Given the description of an element on the screen output the (x, y) to click on. 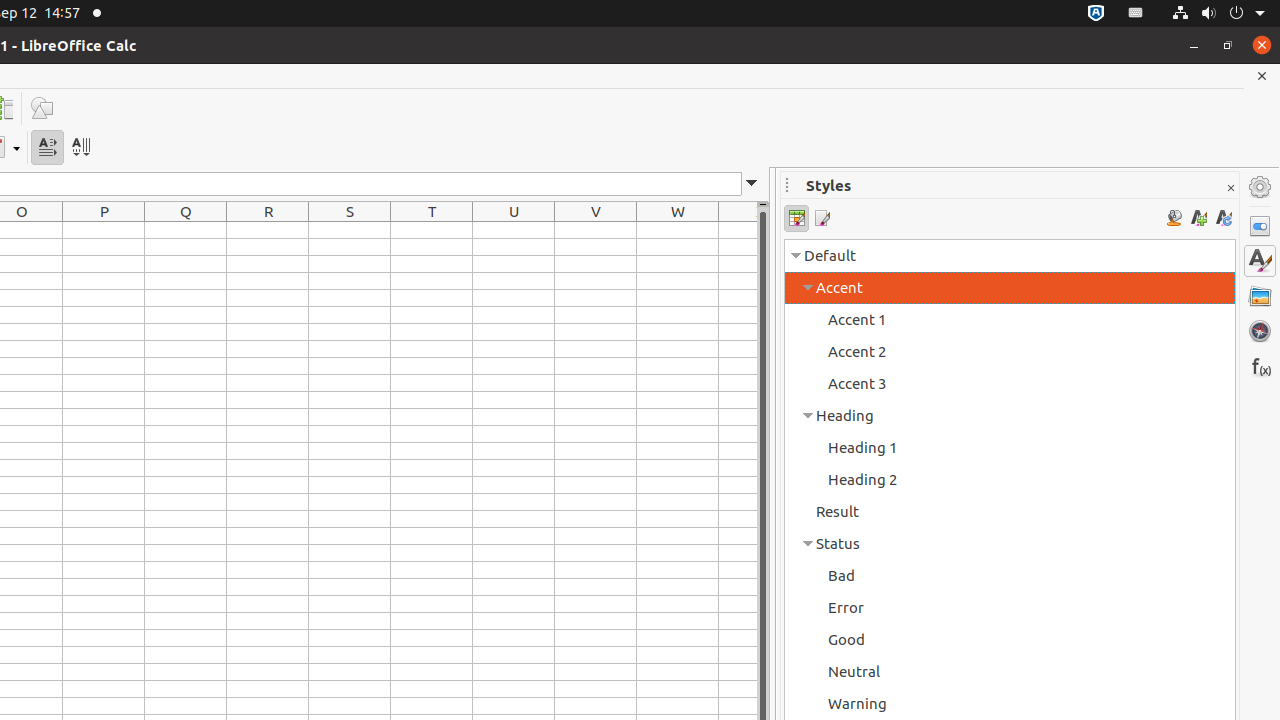
X1 Element type: table-cell (738, 230)
R1 Element type: table-cell (268, 230)
Gallery Element type: radio-button (1260, 296)
System Element type: menu (1218, 13)
Fill Format Mode Element type: push-button (1173, 218)
